Given the description of an element on the screen output the (x, y) to click on. 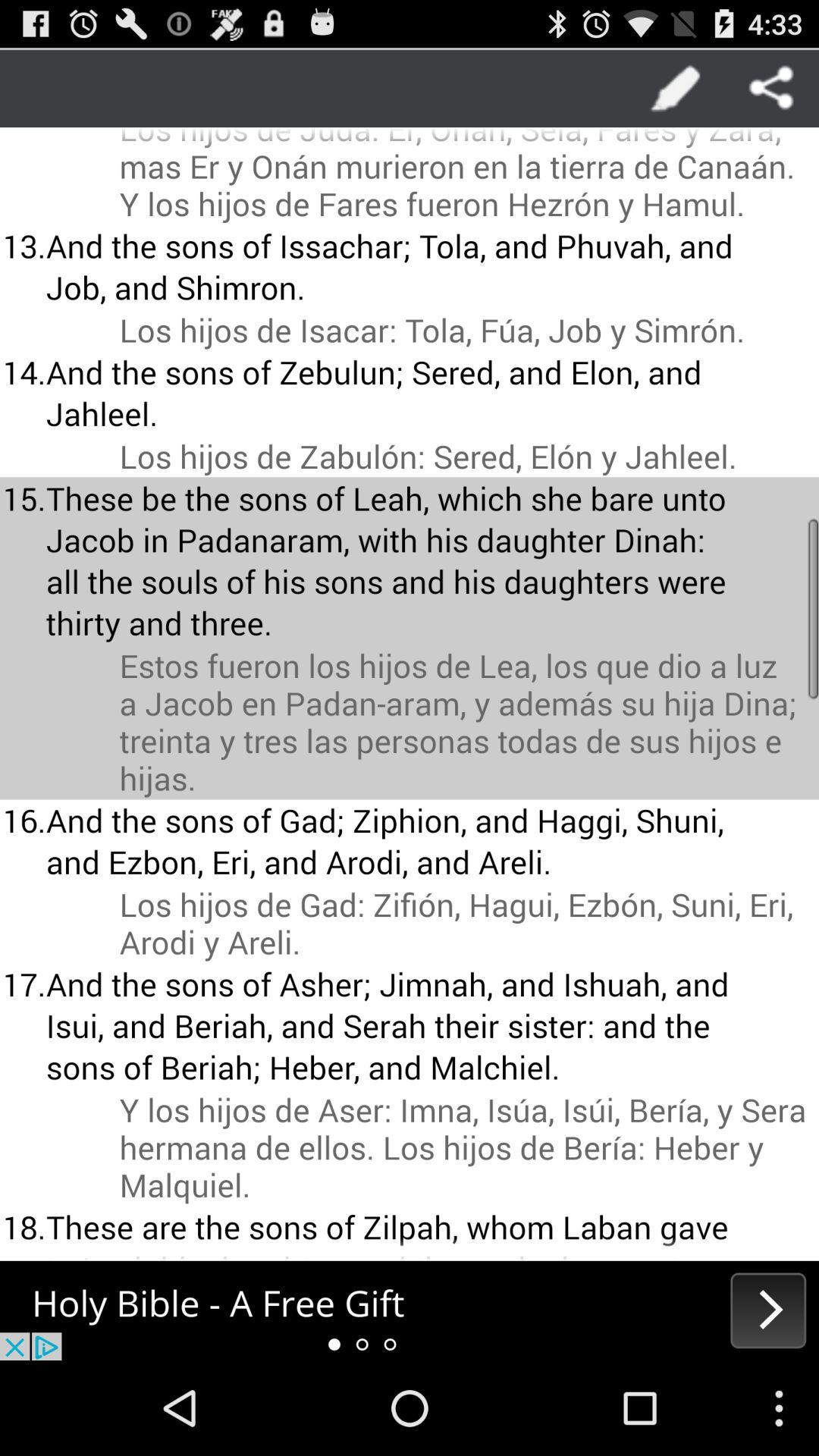
advertisement (409, 1310)
